Given the description of an element on the screen output the (x, y) to click on. 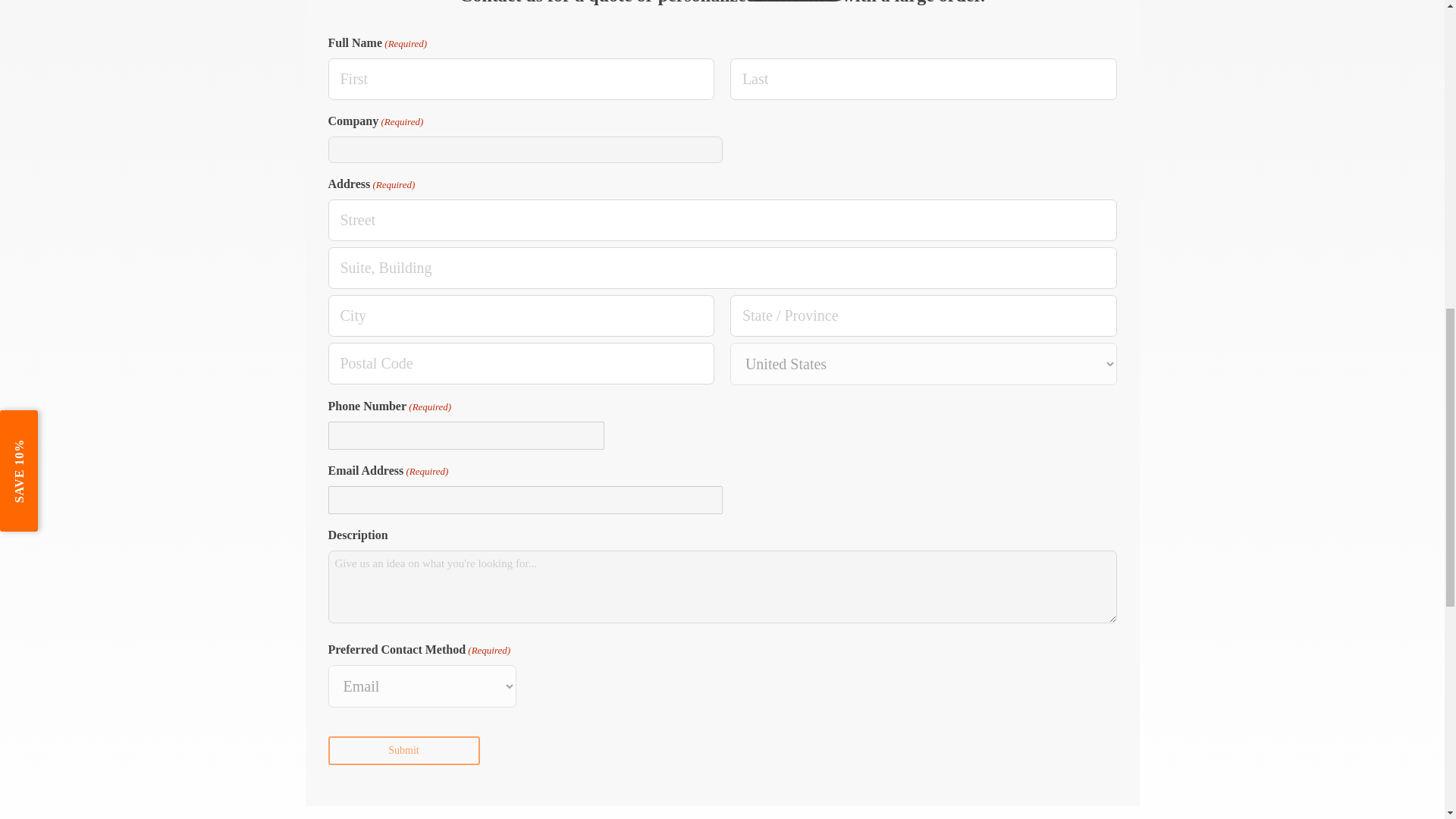
Submit (403, 750)
Shop Speakers (793, 0)
Submit (403, 750)
